Given the description of an element on the screen output the (x, y) to click on. 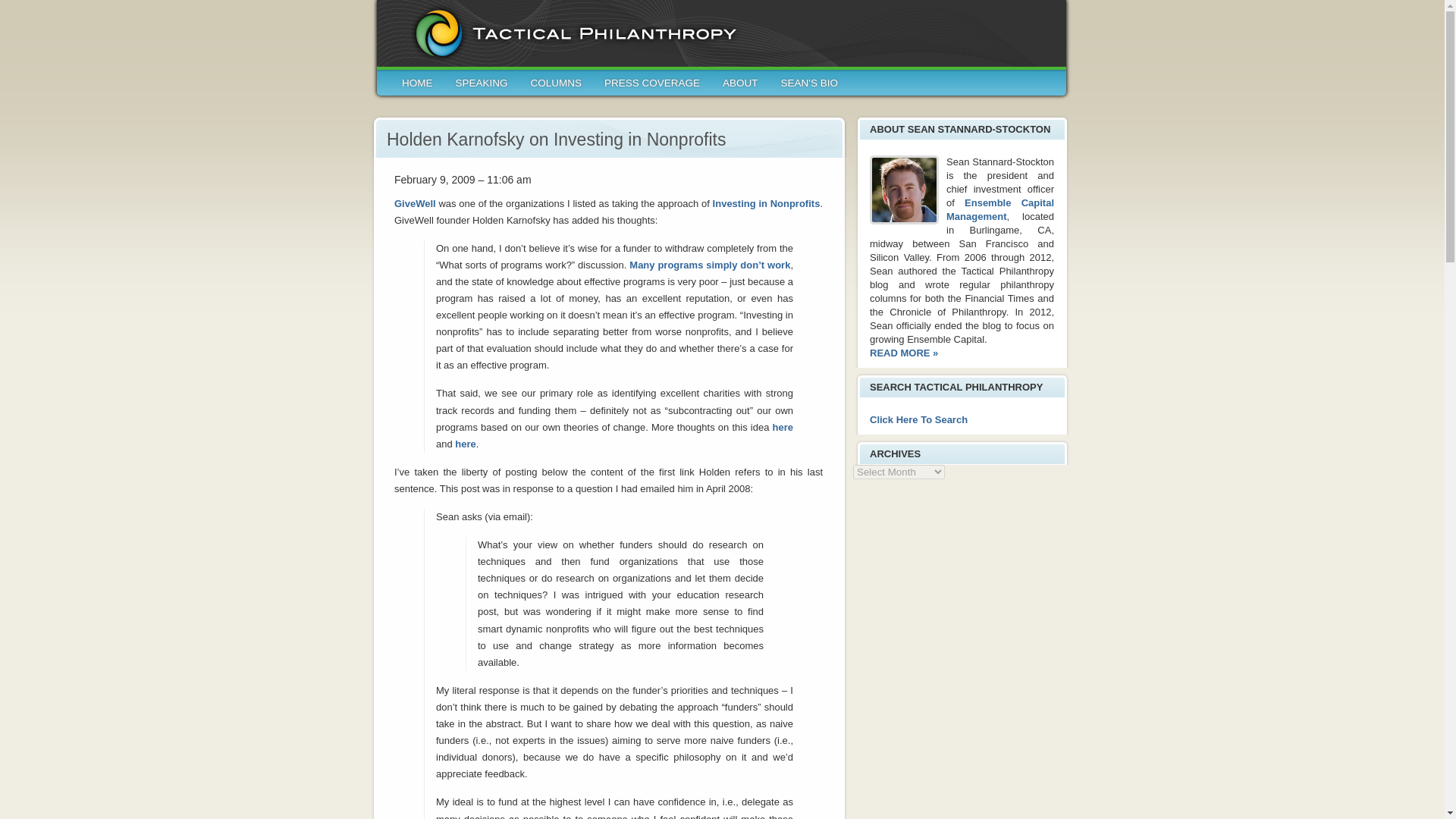
Investing in Nonprofits (767, 202)
HOME (416, 85)
Ensemble Capital Management (1000, 209)
Click Here To Search (918, 419)
PRESS COVERAGE (652, 85)
here (465, 443)
SPEAKING (480, 85)
SEAN'S BIO (809, 85)
here (783, 427)
COLUMNS (556, 85)
ABOUT (740, 85)
GiveWell (414, 202)
